Given the description of an element on the screen output the (x, y) to click on. 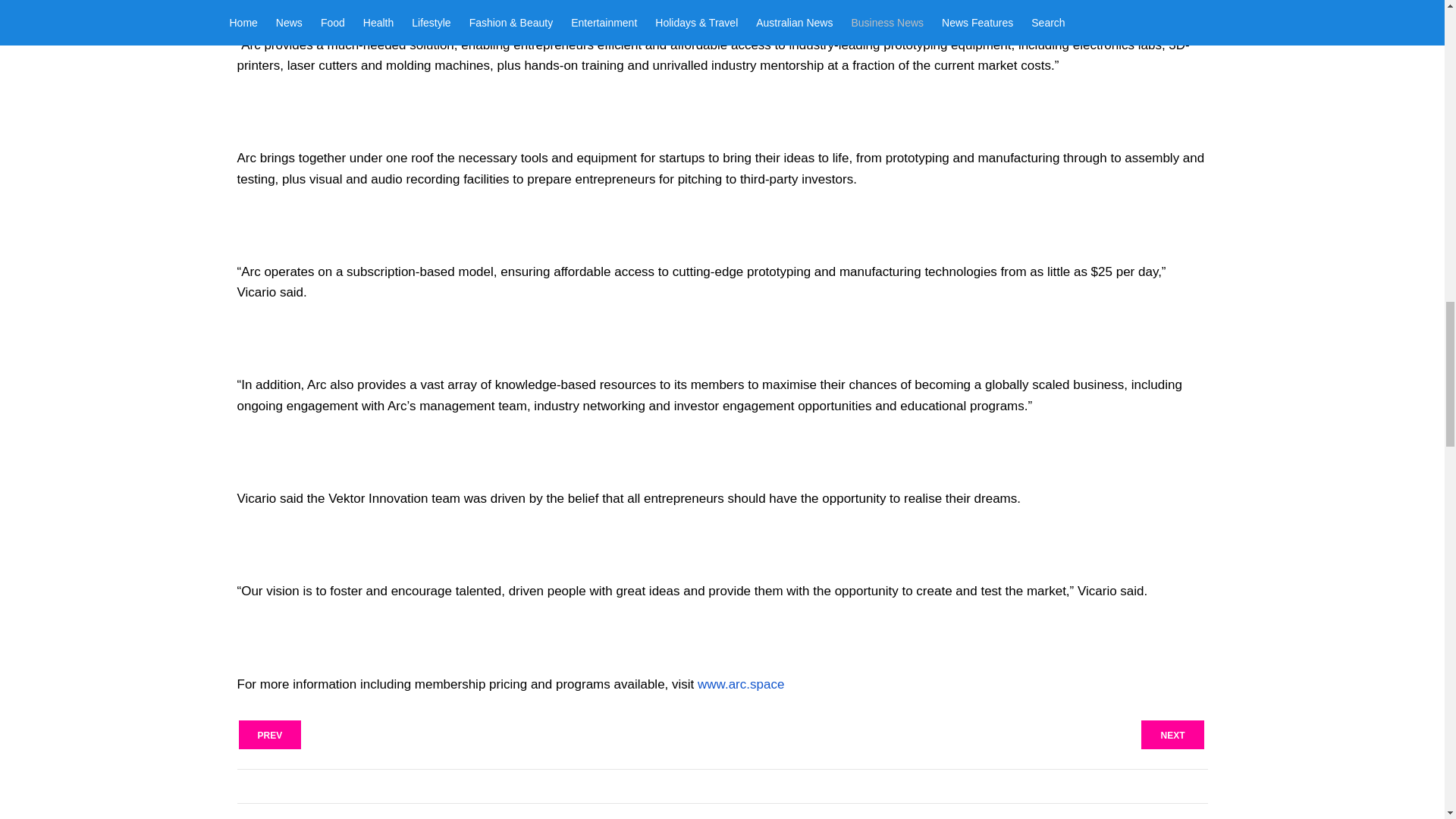
www.arc.space (740, 684)
PREV (269, 734)
NEXT (1172, 734)
